Given the description of an element on the screen output the (x, y) to click on. 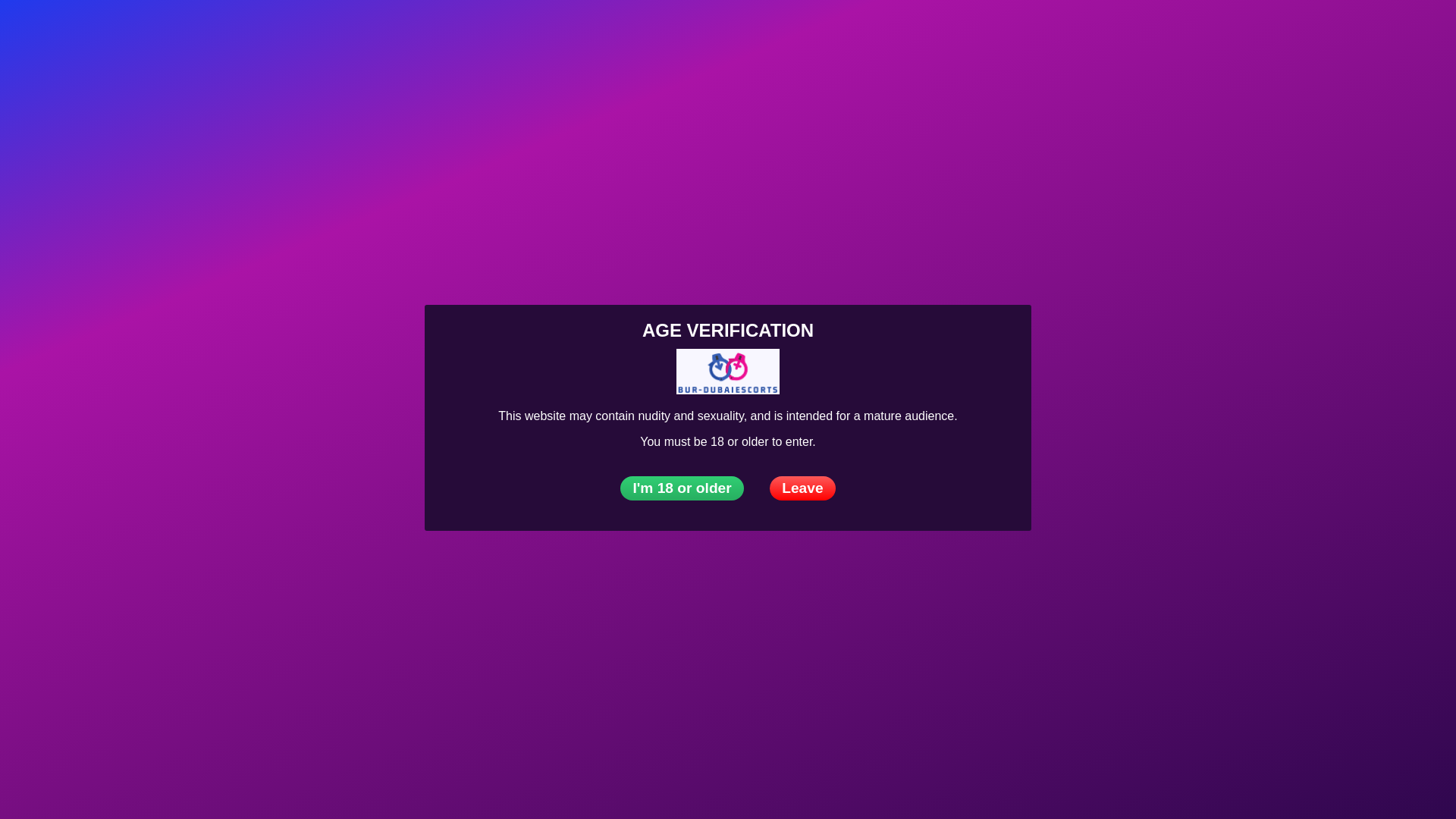
Classified Ads (590, 33)
Search (1395, 31)
Contact Us (754, 33)
Bur Dubai Escorts (152, 33)
Home (152, 33)
Escorts (212, 33)
Contact Us (1427, 31)
Agencies (280, 33)
Escort Reviews (483, 33)
Our Blog (677, 33)
Escorts on Tour (374, 33)
